Given the description of an element on the screen output the (x, y) to click on. 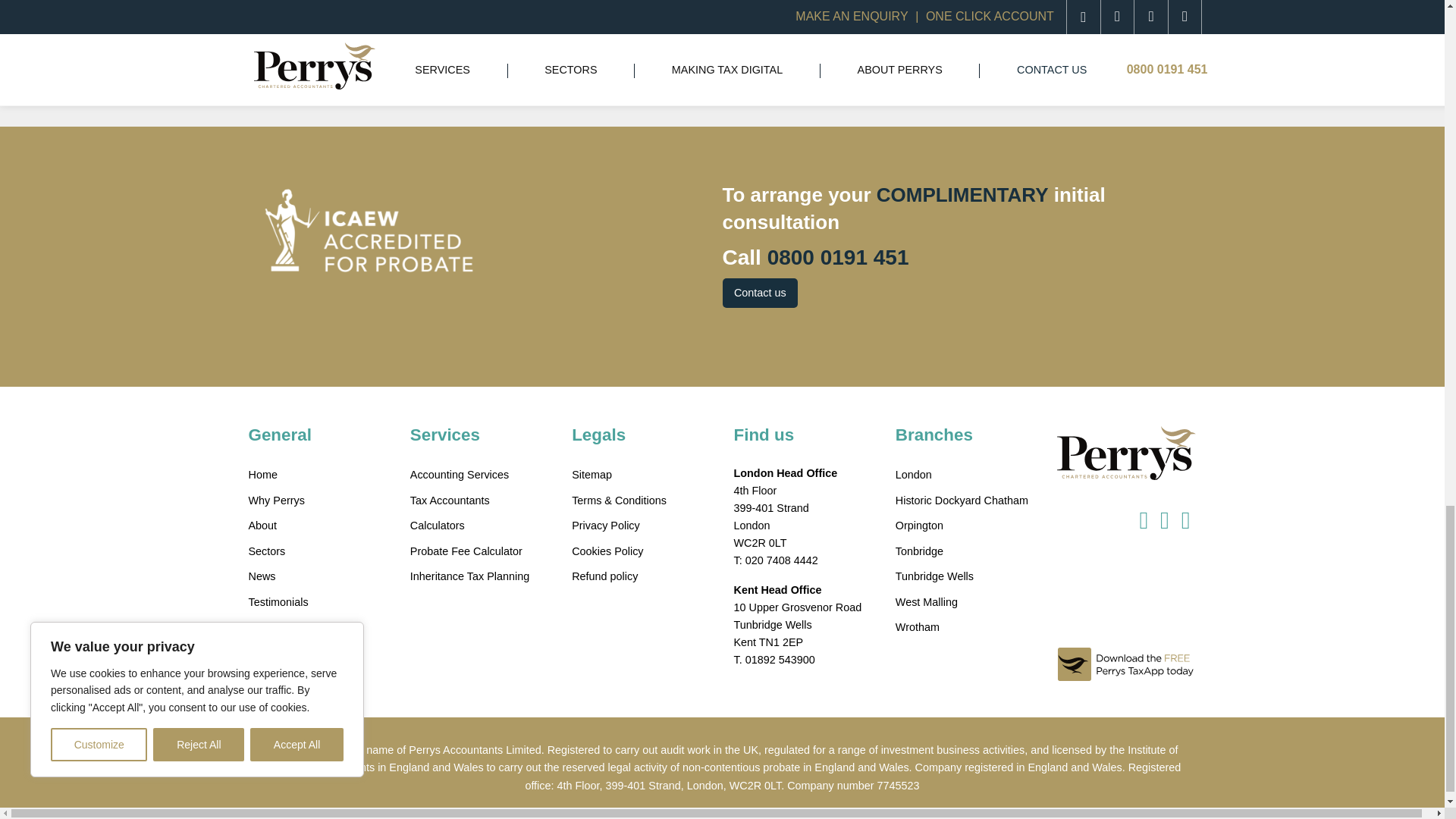
Download the FREE Perrys TaxApp today! (1126, 612)
Perrys Chartered Accountants (1126, 453)
